Given the description of an element on the screen output the (x, y) to click on. 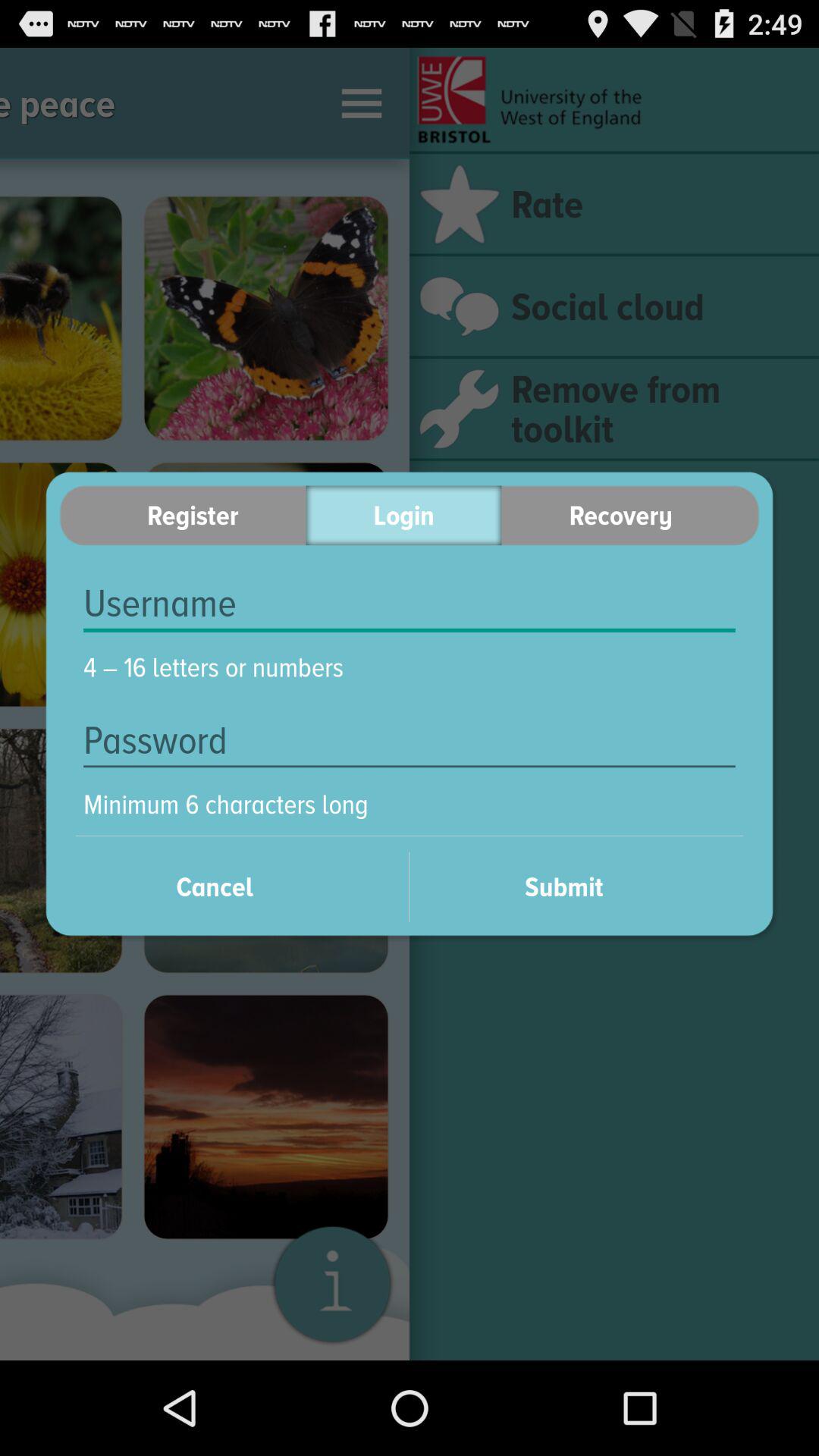
turn off login icon (403, 515)
